Given the description of an element on the screen output the (x, y) to click on. 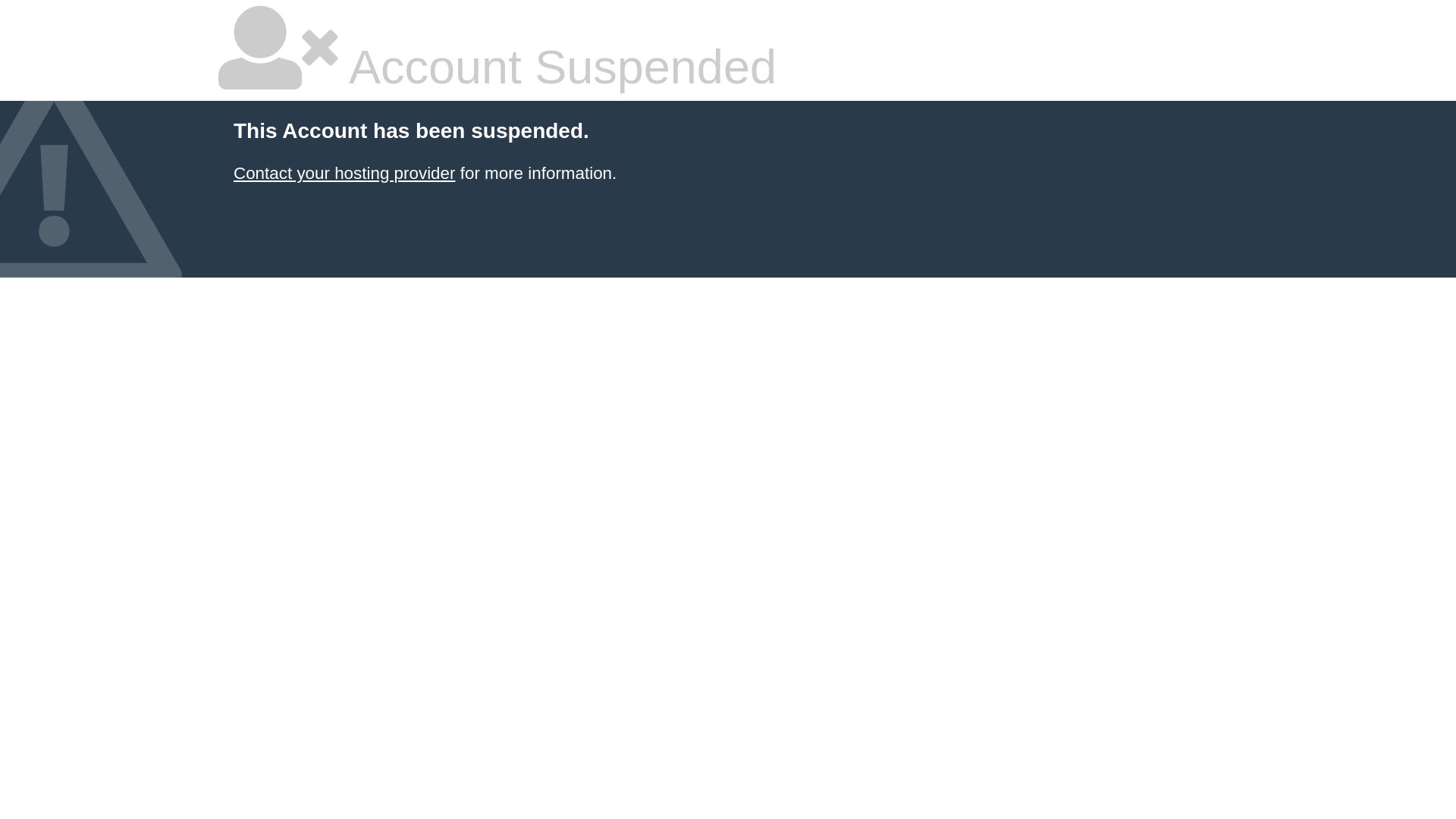
Contact your hosting provider Element type: text (344, 172)
